Given the description of an element on the screen output the (x, y) to click on. 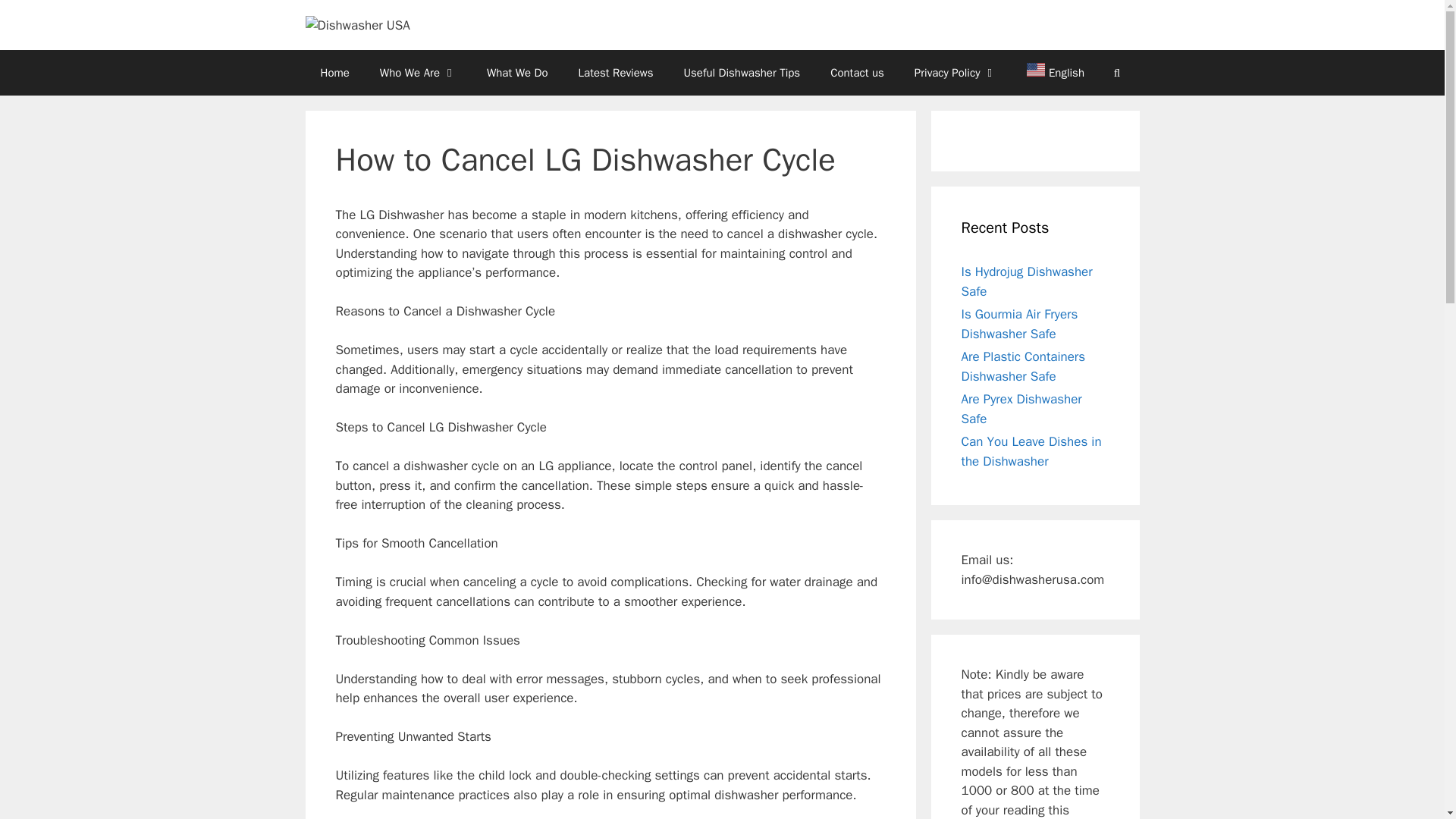
Latest Reviews (615, 72)
Are Plastic Containers Dishwasher Safe (1023, 366)
Useful Dishwasher Tips (741, 72)
Who We Are (418, 72)
Home (334, 72)
Can You Leave Dishes in the Dishwasher (1031, 451)
Privacy Policy (955, 72)
What We Do (517, 72)
English (1047, 72)
Contact us (857, 72)
Is Gourmia Air Fryers Dishwasher Safe (1019, 324)
Is Hydrojug Dishwasher Safe (1026, 281)
Are Pyrex Dishwasher Safe (1020, 408)
